Given the description of an element on the screen output the (x, y) to click on. 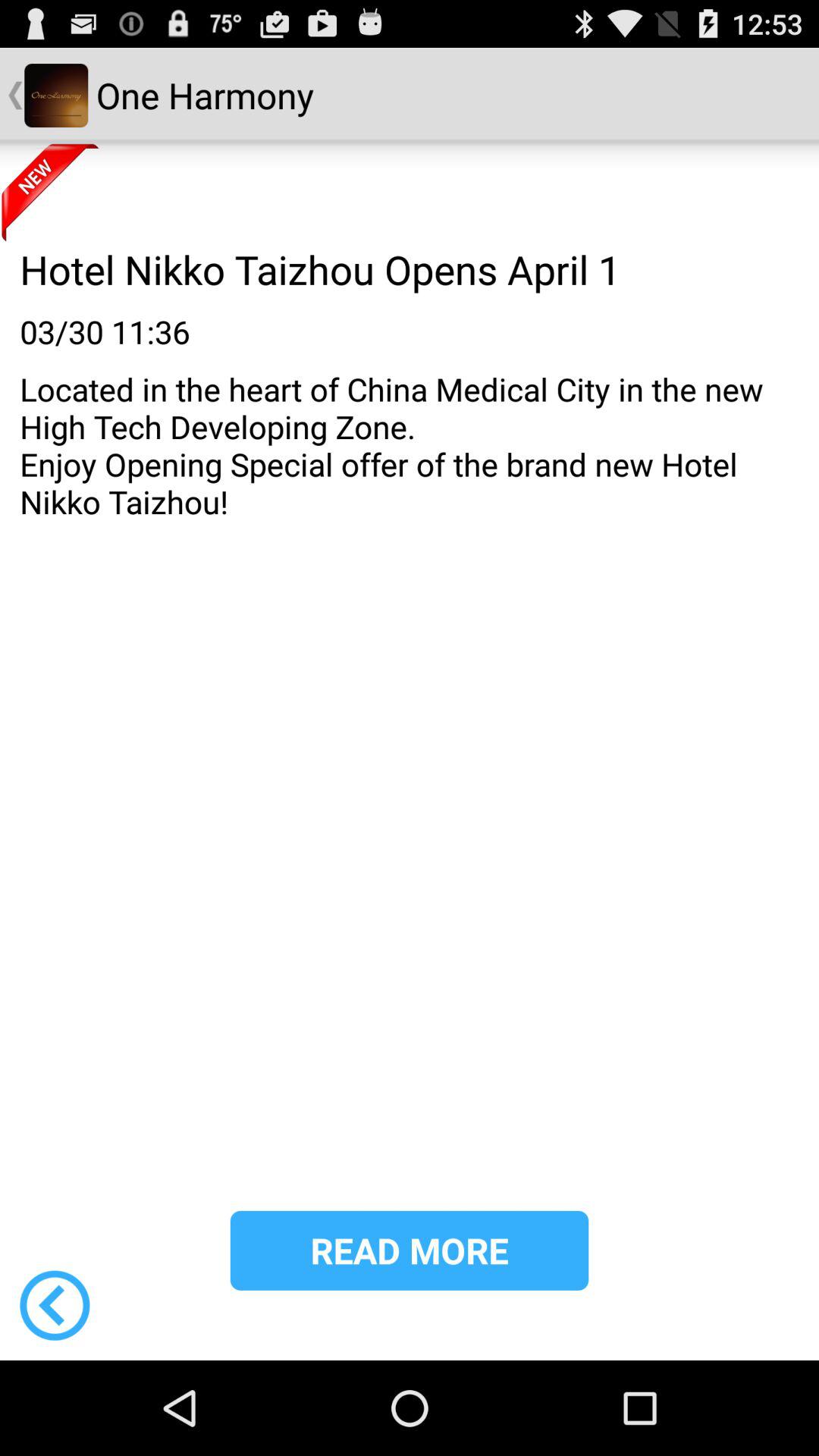
choose the icon below located in the (409, 1250)
